Given the description of an element on the screen output the (x, y) to click on. 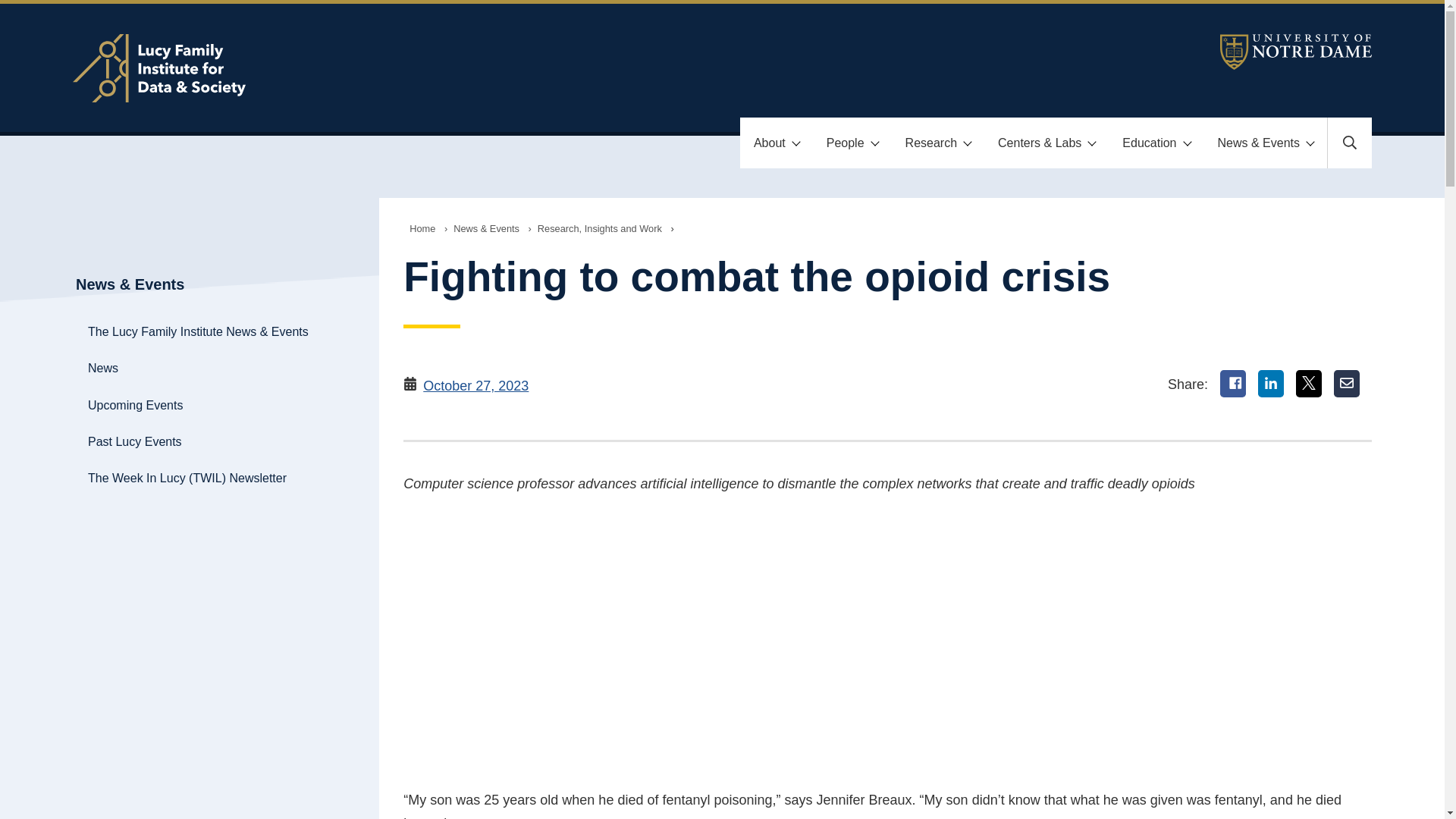
LinkedIn (1270, 383)
Email (1346, 383)
Fighting to Combat the Opioid Crisis (664, 644)
Facebook (1233, 383)
